Given the description of an element on the screen output the (x, y) to click on. 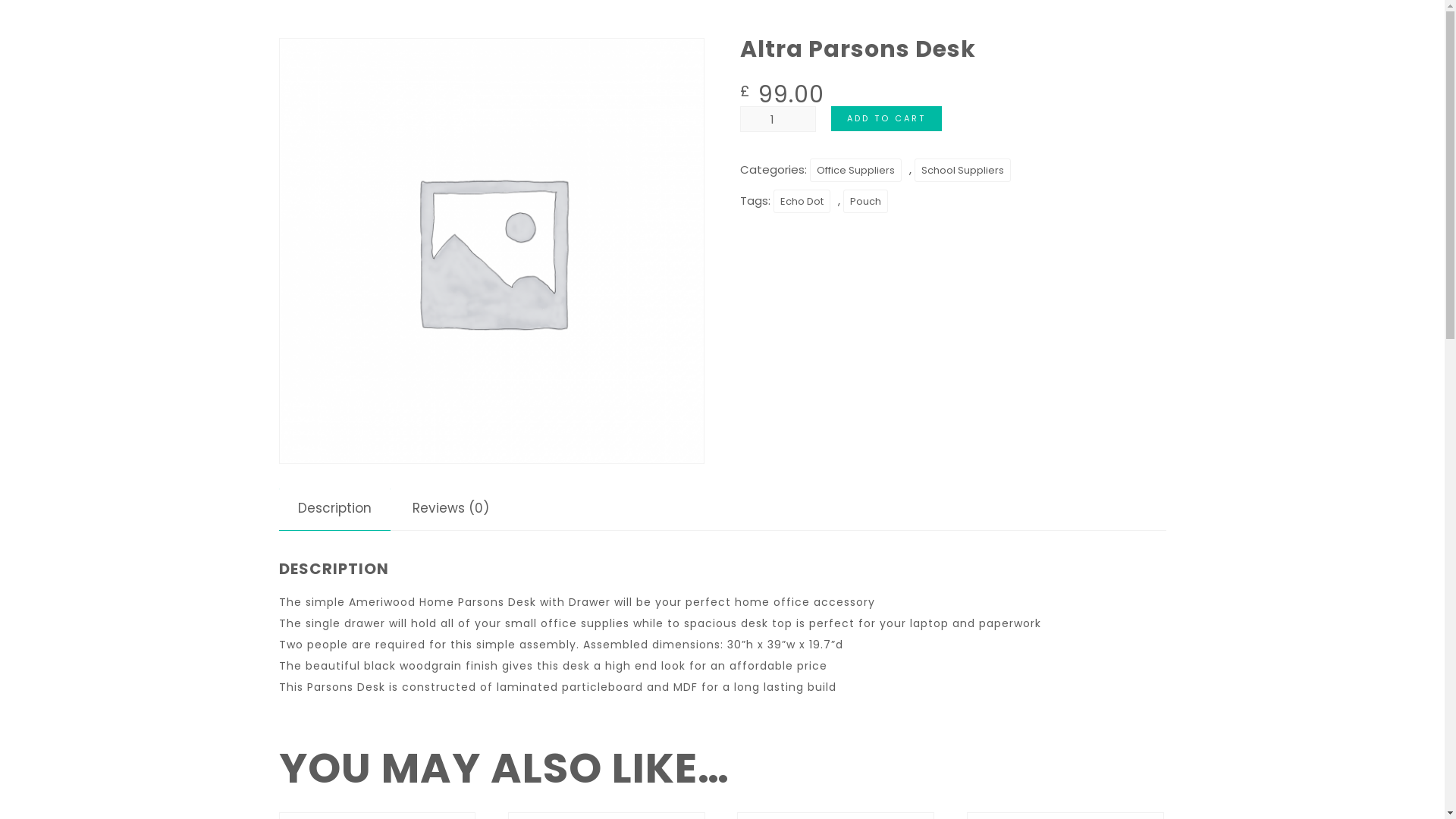
Description Element type: text (333, 508)
School Suppliers Element type: text (962, 170)
Echo Dot Element type: text (801, 201)
Office Suppliers Element type: text (855, 170)
Reviews (0) Element type: text (450, 508)
Pouch Element type: text (865, 201)
ADD TO CART Element type: text (886, 118)
